Given the description of an element on the screen output the (x, y) to click on. 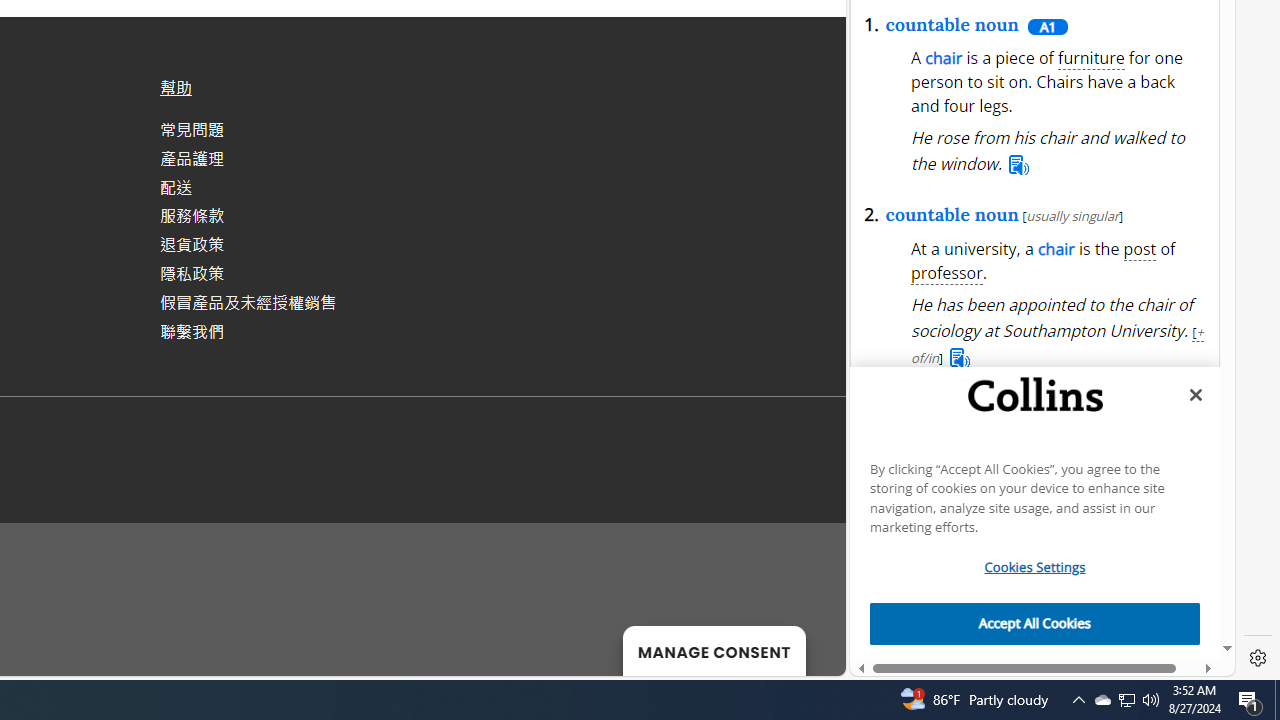
A1 (1046, 26)
MANAGE CONSENT (714, 650)
Go to top (804, 647)
